Given the description of an element on the screen output the (x, y) to click on. 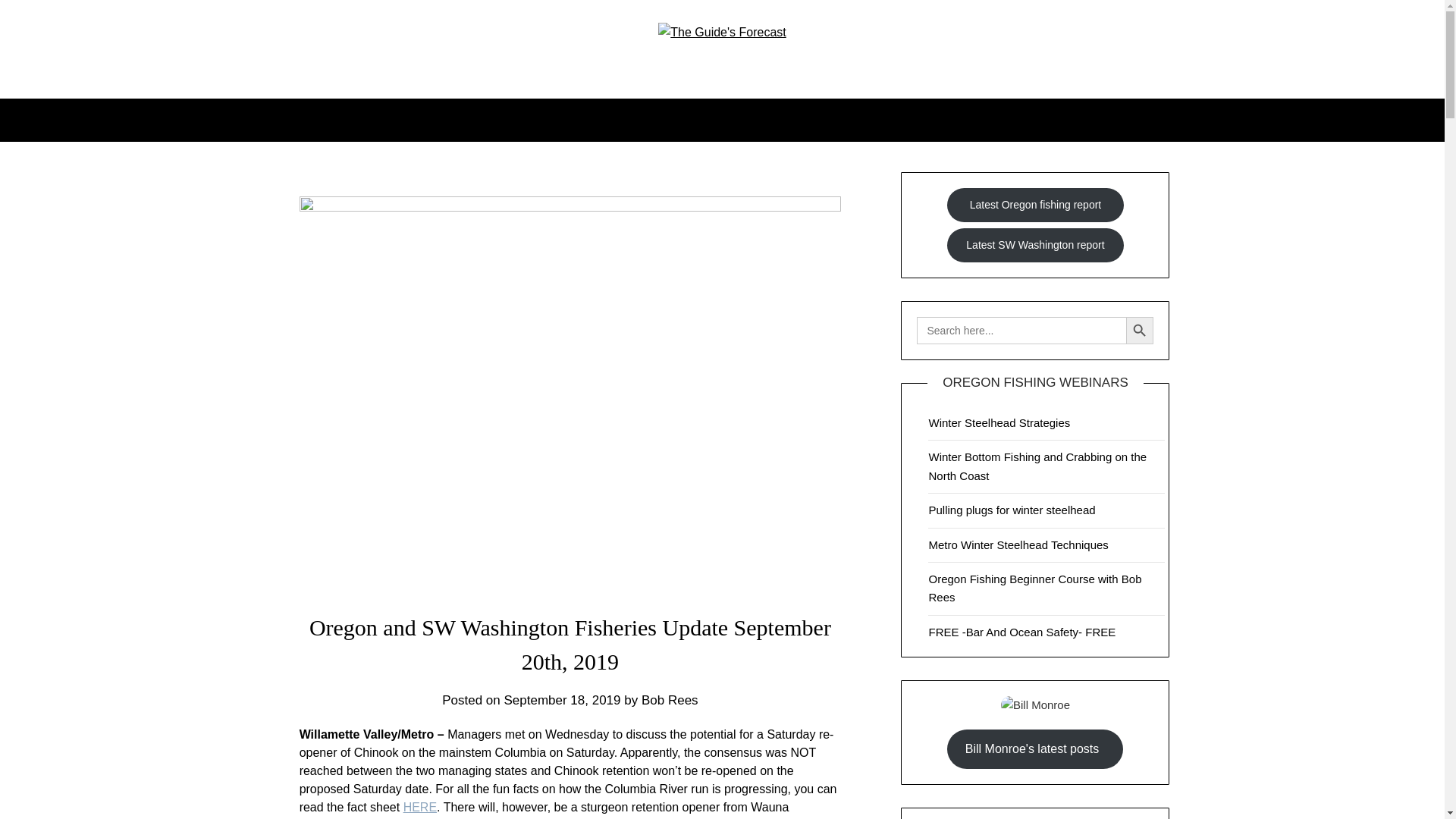
SHOP (831, 119)
Get Help From TGF (890, 119)
FISHING TOOLS (740, 119)
5 webinar series for beginners (1034, 587)
MEMBERS (499, 119)
FISHING REPORTS (611, 119)
